Given the description of an element on the screen output the (x, y) to click on. 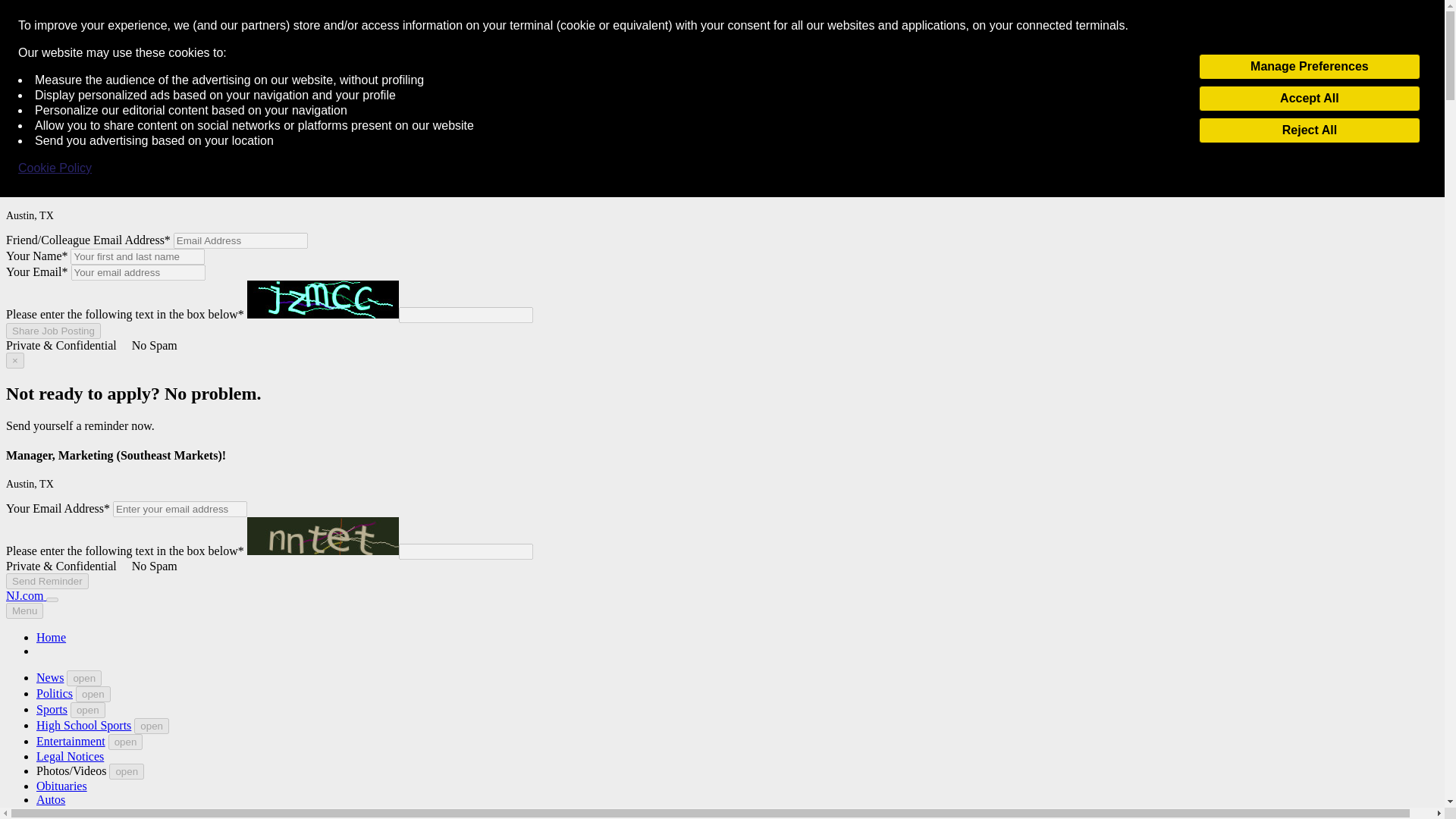
Legal Notices (69, 756)
Manage Preferences (1309, 66)
Menu (24, 610)
open (124, 741)
Sports (51, 708)
open (83, 678)
Send Reminder (46, 580)
Accept All (1309, 98)
High School Sports (83, 725)
Entertainment (70, 740)
Reject All (1309, 130)
News (50, 676)
open (92, 693)
captcha (322, 535)
open (86, 709)
